Given the description of an element on the screen output the (x, y) to click on. 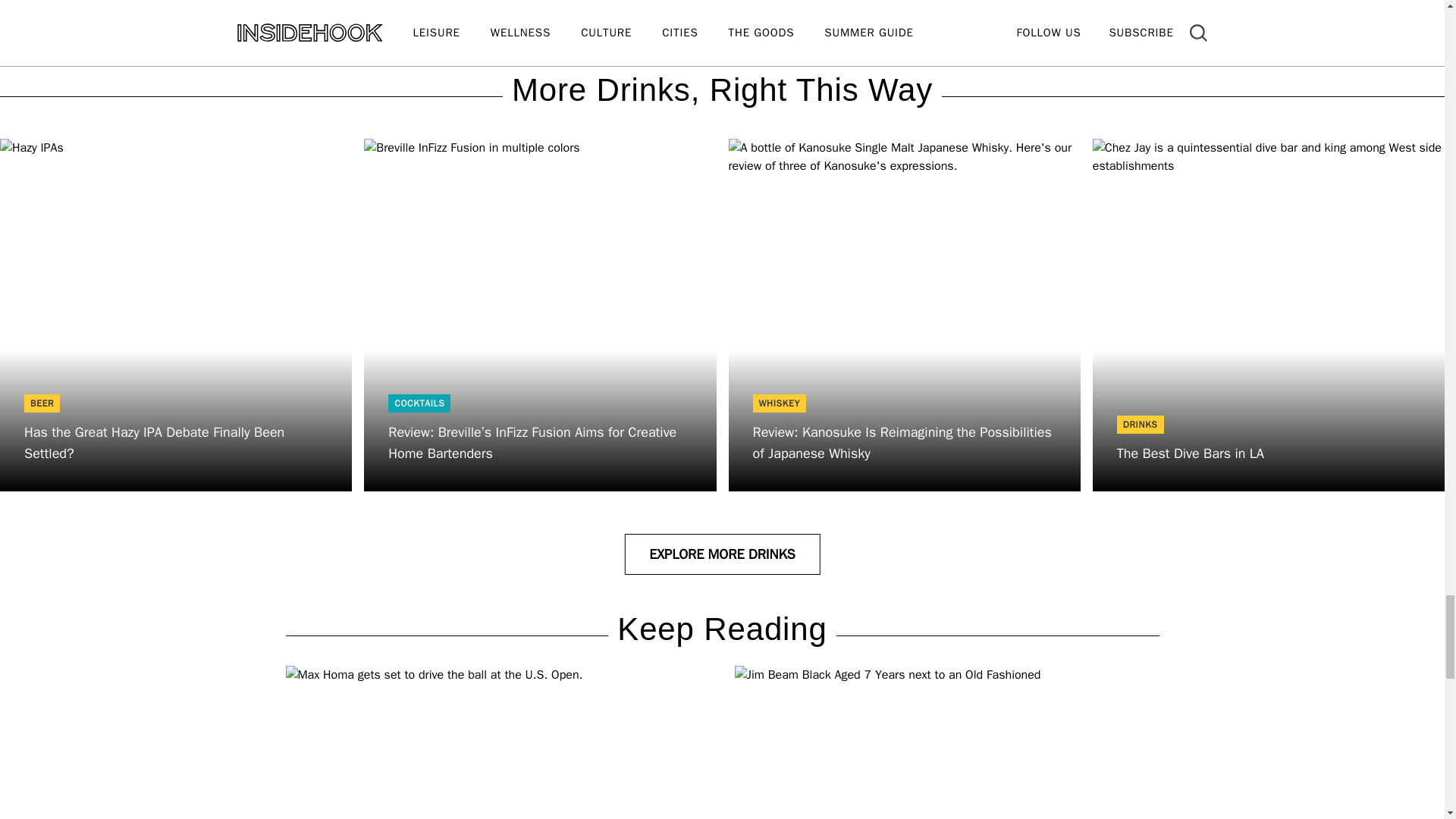
on (394, 5)
